Given the description of an element on the screen output the (x, y) to click on. 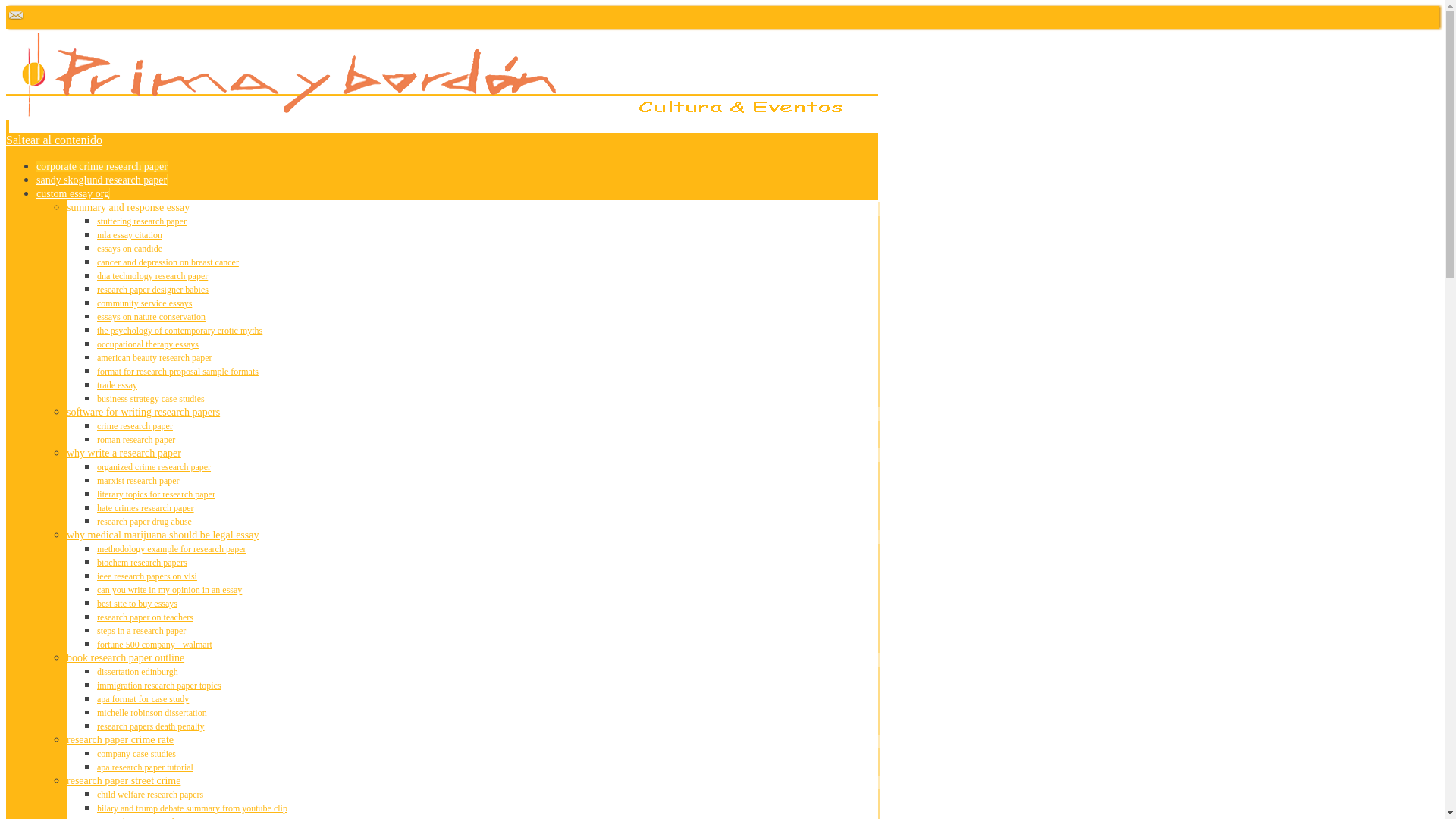
can you write in my opinion in an essay (169, 589)
sandy skoglund research paper (101, 179)
Correo electronico (15, 21)
research paper on teachers (145, 616)
american beauty research paper (154, 357)
methodology example for research paper (171, 548)
essays on nature conservation (151, 317)
custom essay org (72, 193)
Saltear al contenido (53, 139)
community service essays (144, 303)
